Given the description of an element on the screen output the (x, y) to click on. 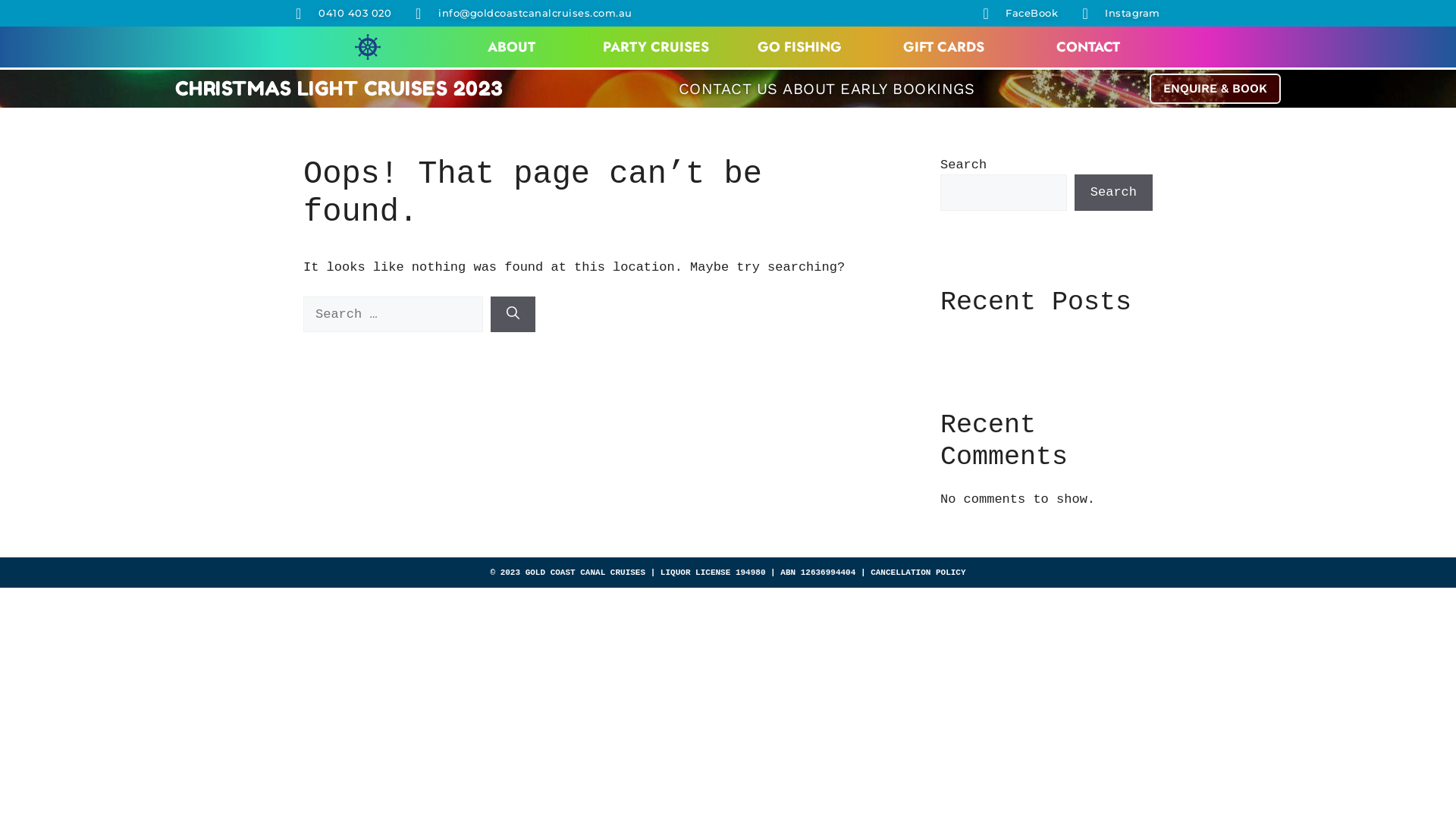
CONTACT US ABOUT EARLY BOOKINGS Element type: text (826, 88)
CANCELLATION POLICY Element type: text (917, 572)
ENQUIRE & BOOK Element type: text (1214, 88)
ABOUT Element type: text (511, 46)
Search for: Element type: hover (393, 314)
info@goldcoastcanalcruises.com.au Element type: text (523, 13)
FaceBook Element type: text (1019, 13)
PARTY CRUISES Element type: text (655, 46)
Search Element type: text (1113, 192)
Instagram Element type: text (1121, 13)
GO FISHING Element type: text (799, 46)
CONTACT Element type: text (1088, 46)
0410 403 020 Element type: text (343, 13)
GIFT CARDS Element type: text (943, 46)
